Given the description of an element on the screen output the (x, y) to click on. 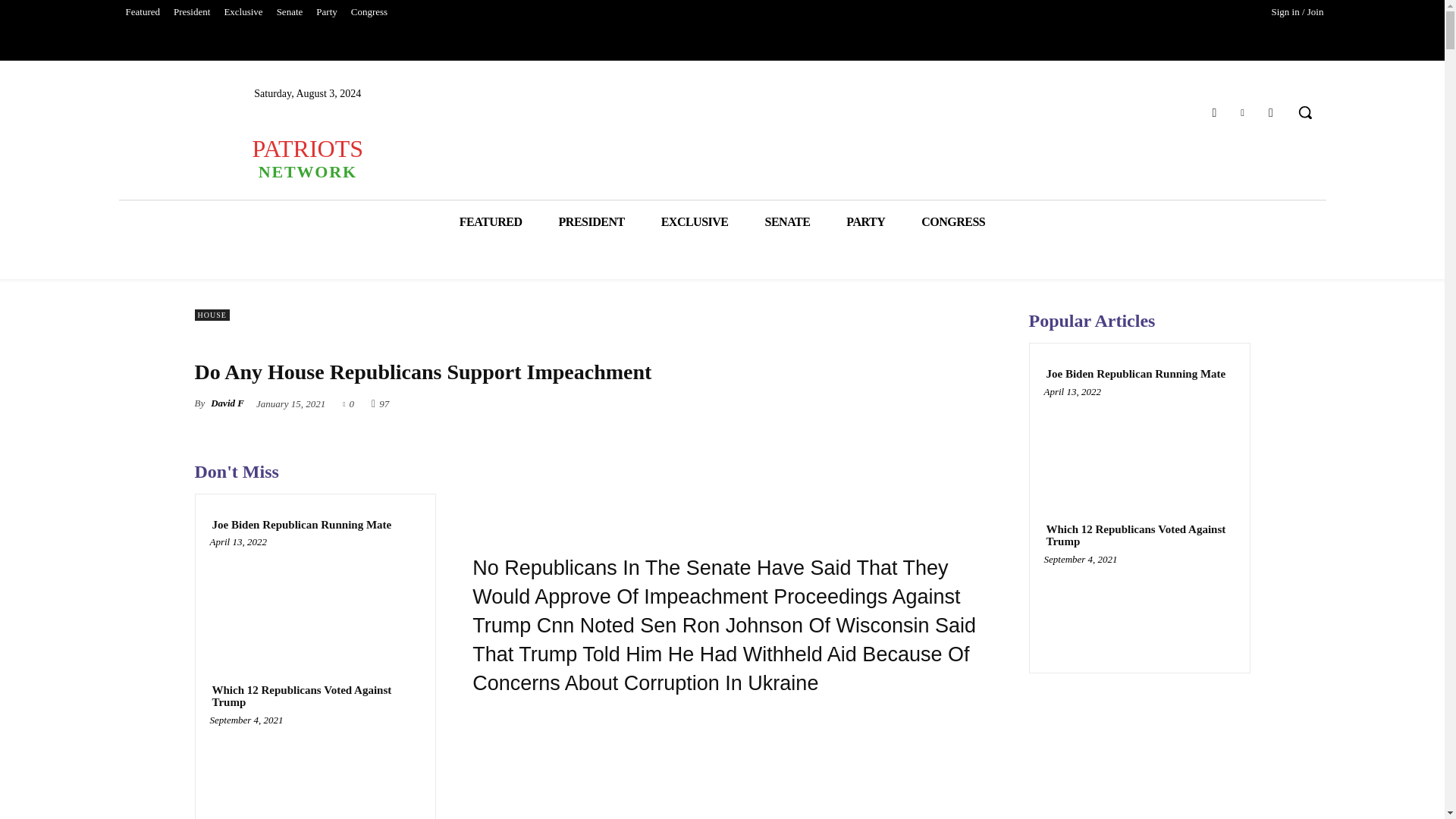
SENATE (787, 221)
PRESIDENT (591, 221)
Joe Biden Republican Running Mate (314, 597)
Twitter (1241, 112)
Congress (368, 12)
Featured (141, 12)
EXCLUSIVE (694, 221)
PARTY (865, 221)
President (191, 12)
Youtube (1270, 112)
Which 12 Republicans Voted Against Trump (314, 696)
Party (325, 12)
Joe Biden Republican Running Mate (301, 524)
CONGRESS (952, 221)
Facebook (1214, 112)
